Given the description of an element on the screen output the (x, y) to click on. 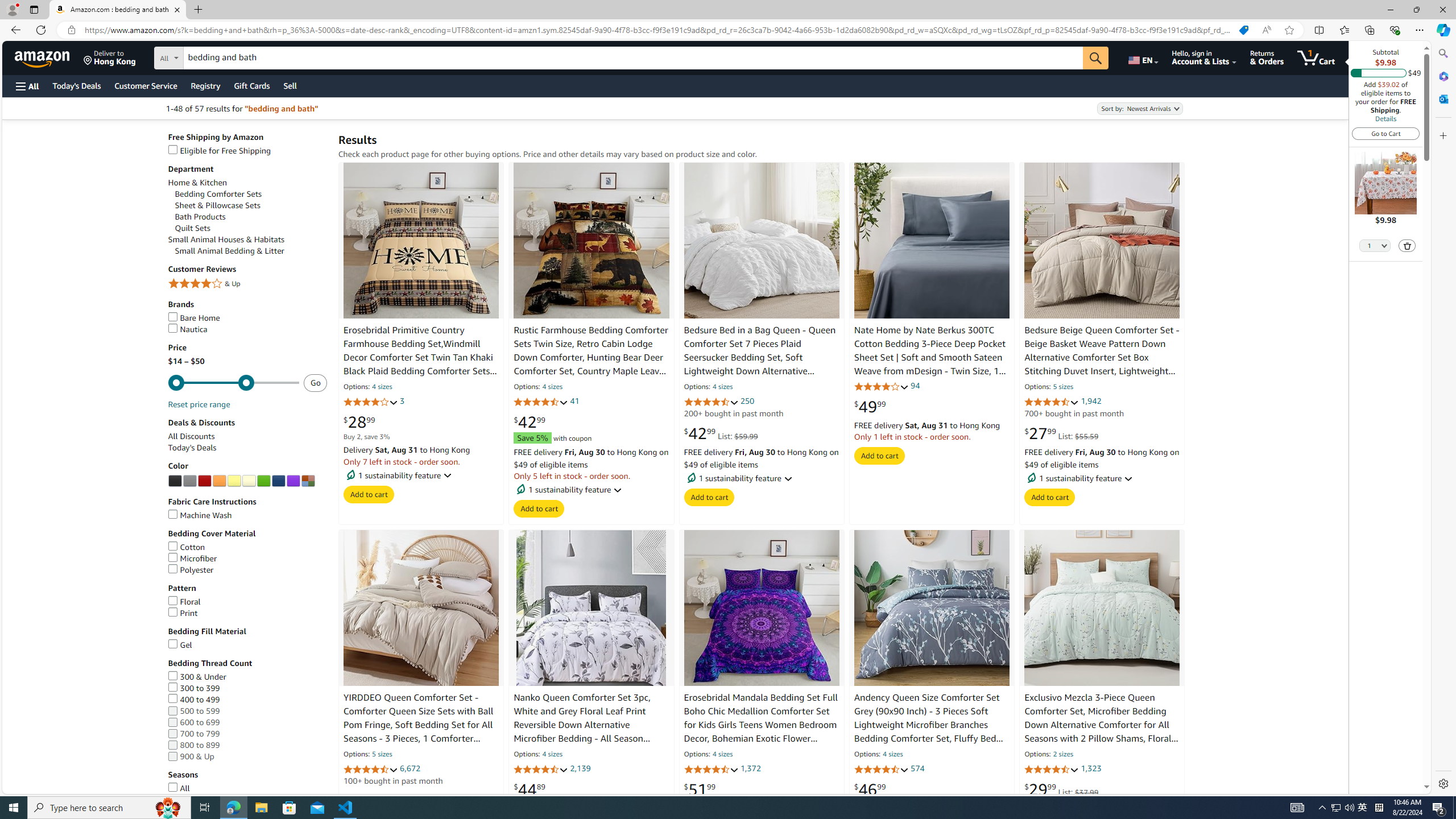
Go (1096, 57)
Maximum (233, 382)
Blue (277, 481)
4.5 out of 5 stars (1051, 402)
Polyester (190, 569)
Multi (307, 481)
Home & Kitchen (247, 182)
$27.99 List: $55.59 (1062, 433)
Outlook (1442, 98)
Cotton (186, 546)
All (178, 787)
